Given the description of an element on the screen output the (x, y) to click on. 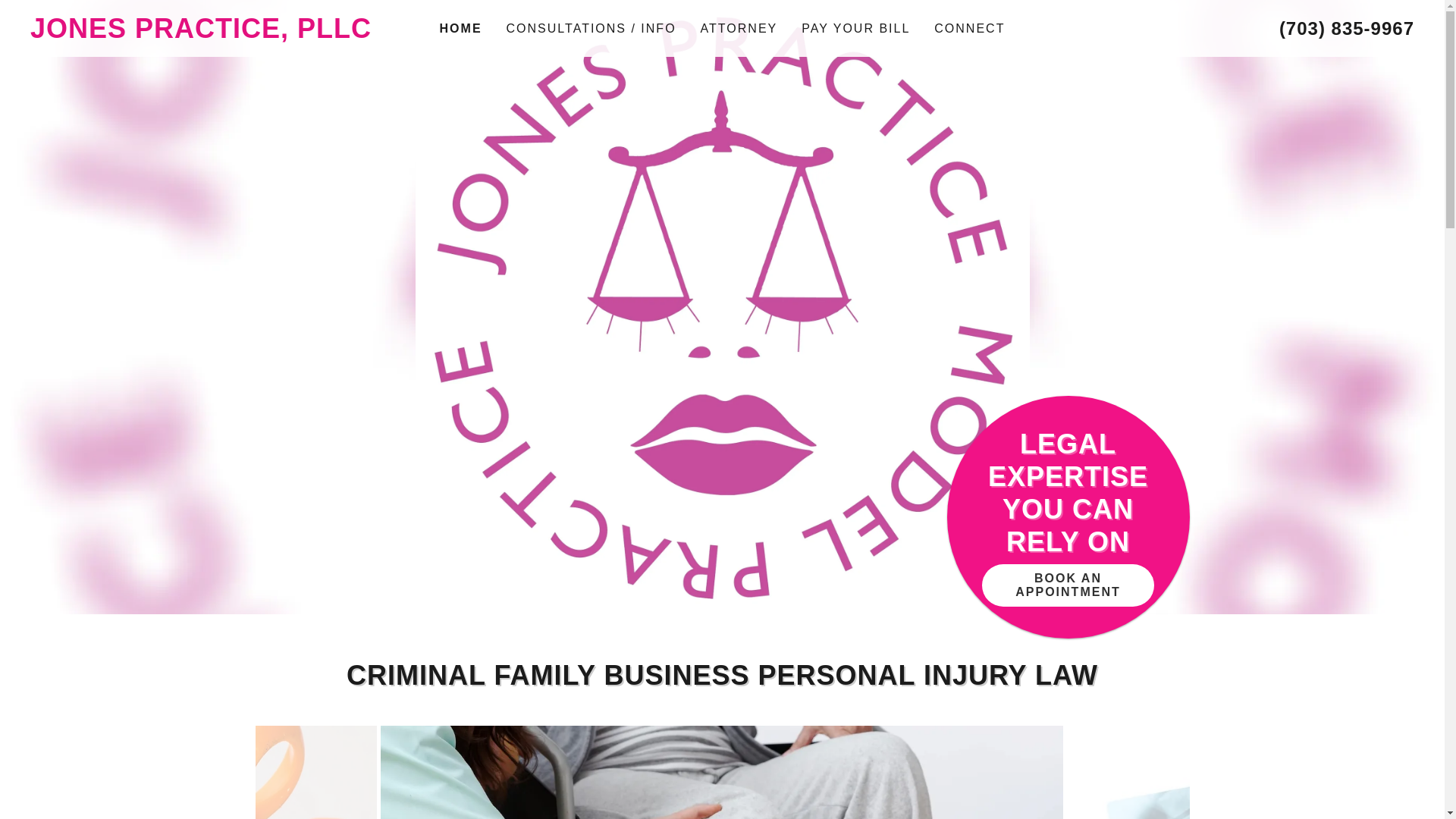
HOME (460, 28)
JONES PRACTICE, PLLC (202, 32)
Jones Practice, PLLC (202, 32)
CONNECT (969, 28)
ATTORNEY (739, 28)
PAY YOUR BILL (855, 28)
BOOK AN APPOINTMENT (1067, 585)
